Given the description of an element on the screen output the (x, y) to click on. 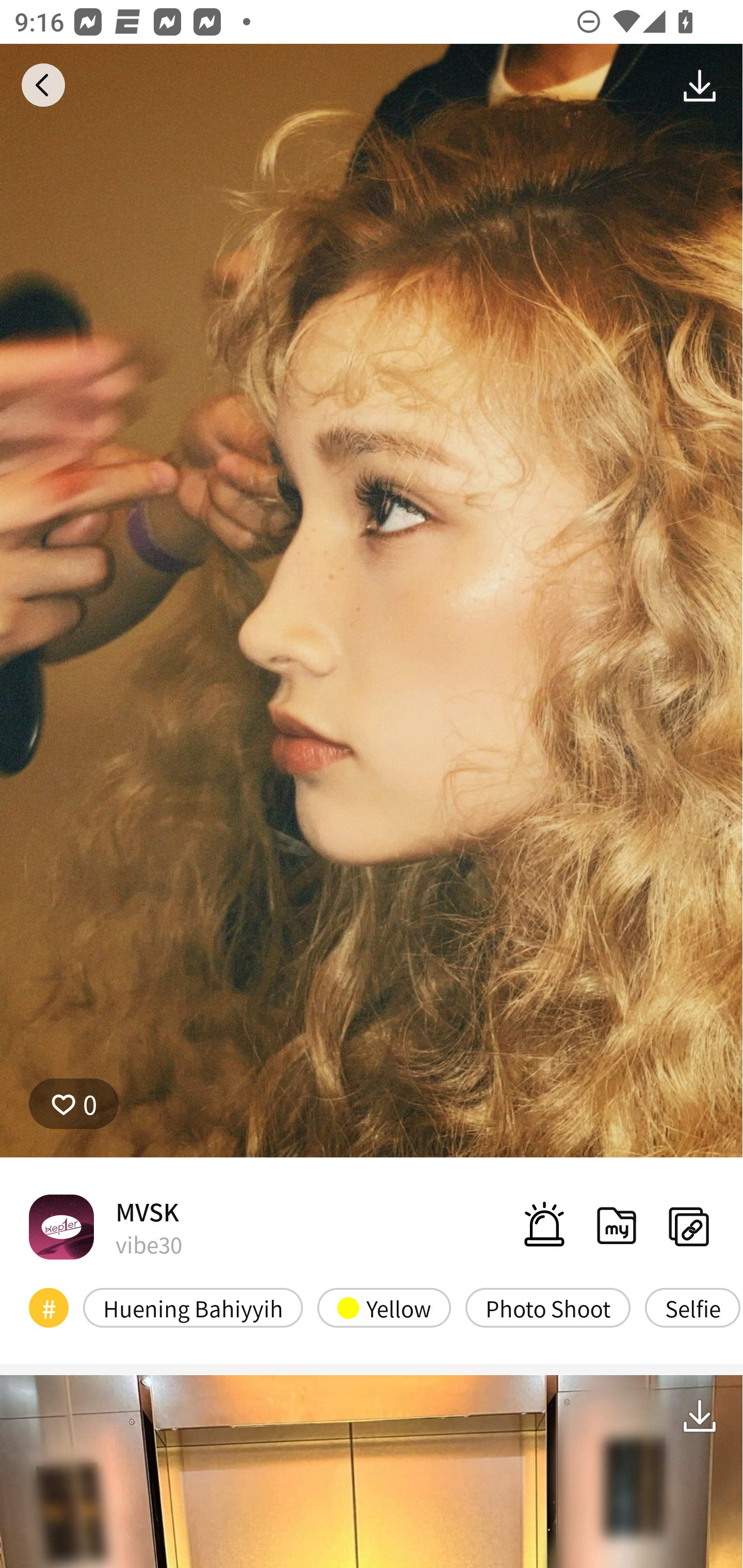
0 (73, 1102)
MVSK vibe30 (105, 1226)
Huening Bahiyyih (193, 1307)
Yellow (384, 1307)
Photo Shoot (547, 1307)
Selfie (692, 1307)
